Given the description of an element on the screen output the (x, y) to click on. 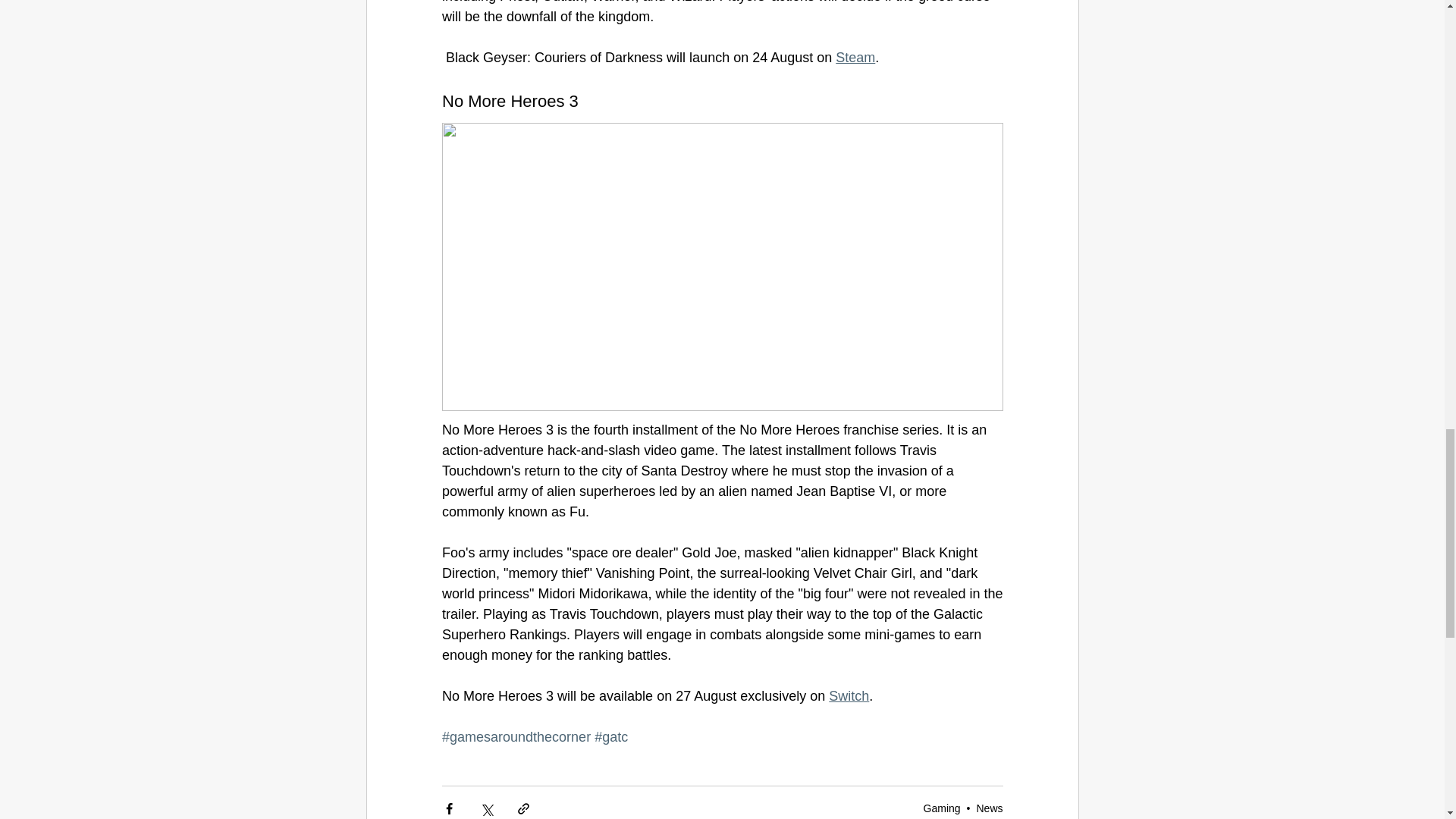
Switch (848, 695)
Steam (855, 57)
Gaming (941, 808)
News (989, 808)
